Given the description of an element on the screen output the (x, y) to click on. 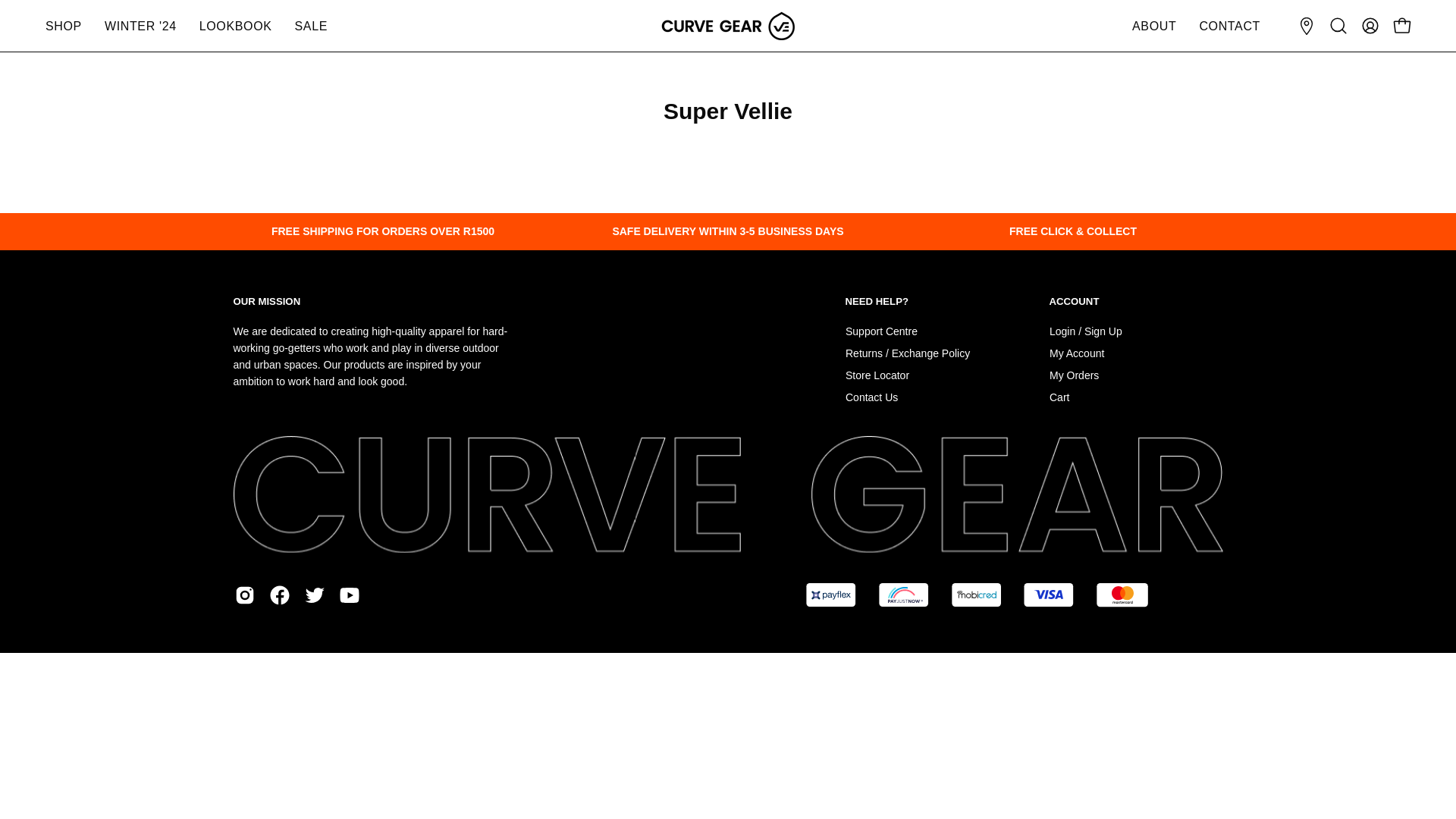
Open search bar (1338, 25)
View Curve Gear on Youtube (349, 594)
View Curve Gear on Twitter (314, 594)
View Curve Gear on Instagram (244, 594)
View Curve Gear on Facebook (279, 594)
